Given the description of an element on the screen output the (x, y) to click on. 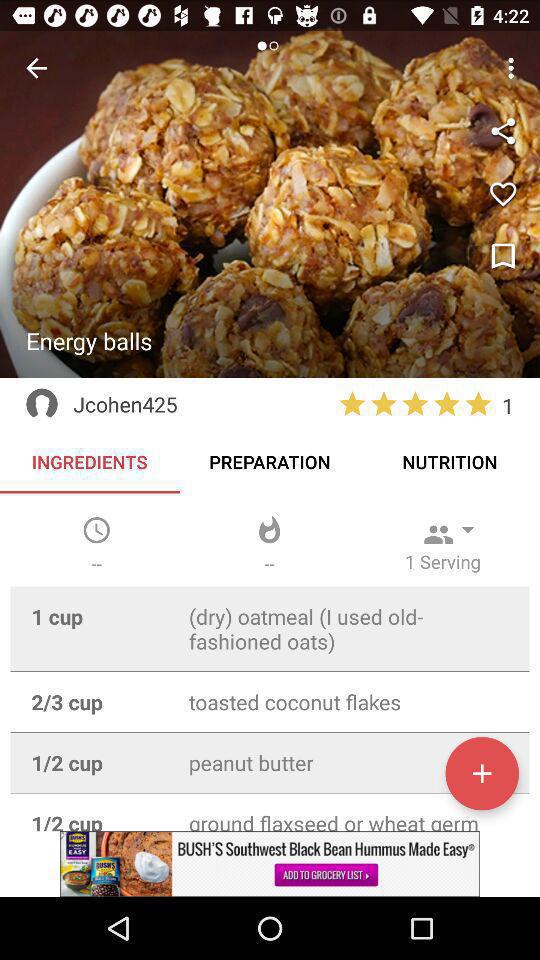
go to back (36, 68)
